Given the description of an element on the screen output the (x, y) to click on. 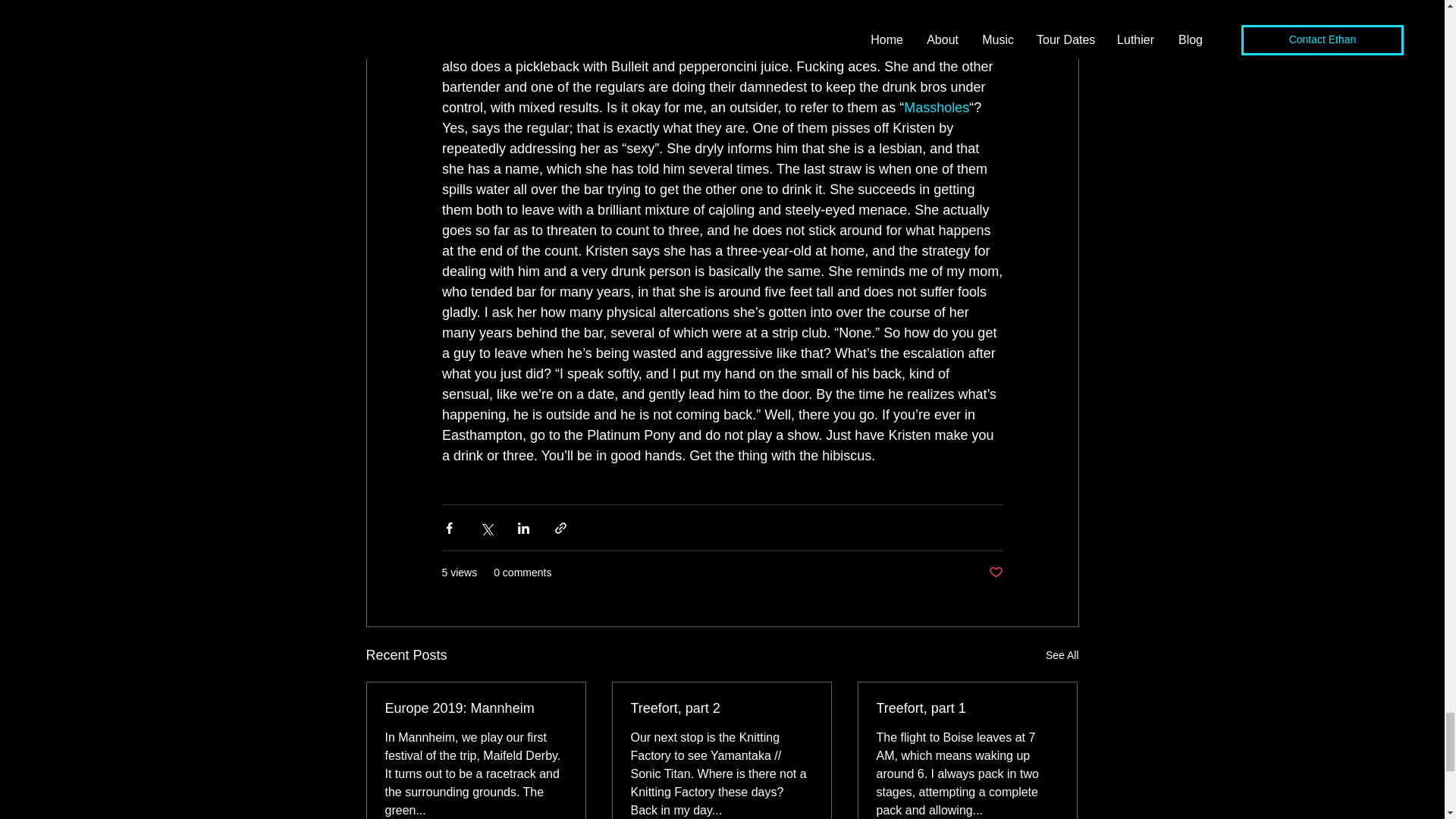
Post not marked as liked (995, 572)
Massholes (936, 107)
Treefort, part 2 (721, 708)
See All (1061, 655)
Europe 2019: Mannheim (476, 708)
Treefort, part 1 (967, 708)
